Given the description of an element on the screen output the (x, y) to click on. 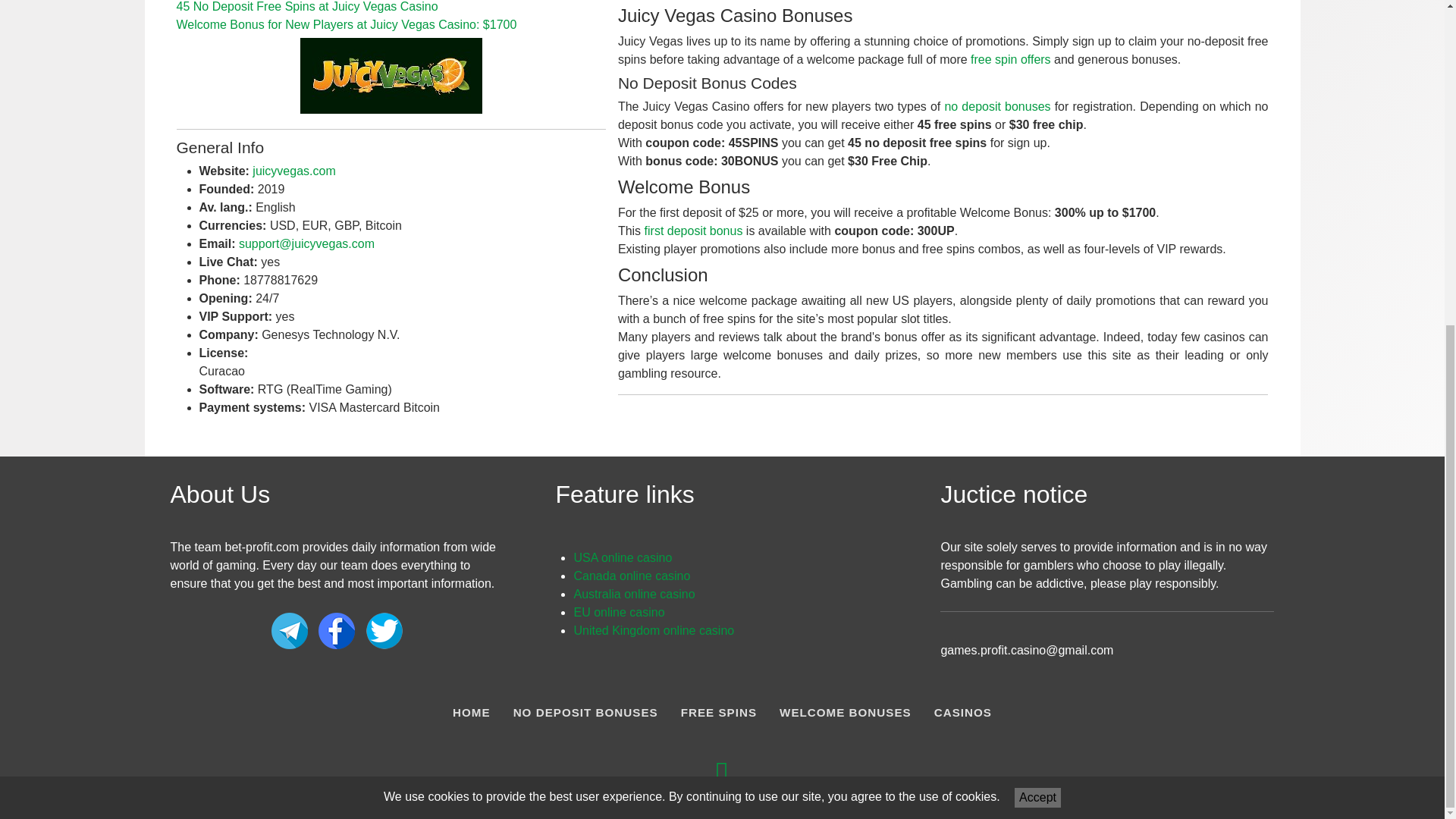
Juicy Vegas Casino Logo (390, 75)
45 No Deposit Free Spins at Juicy Vegas Casino (307, 6)
45 No Deposit Free Spins at Juicy Vegas Casino (307, 6)
juicyvegas.com (292, 170)
juicyvegas.com (292, 170)
